Given the description of an element on the screen output the (x, y) to click on. 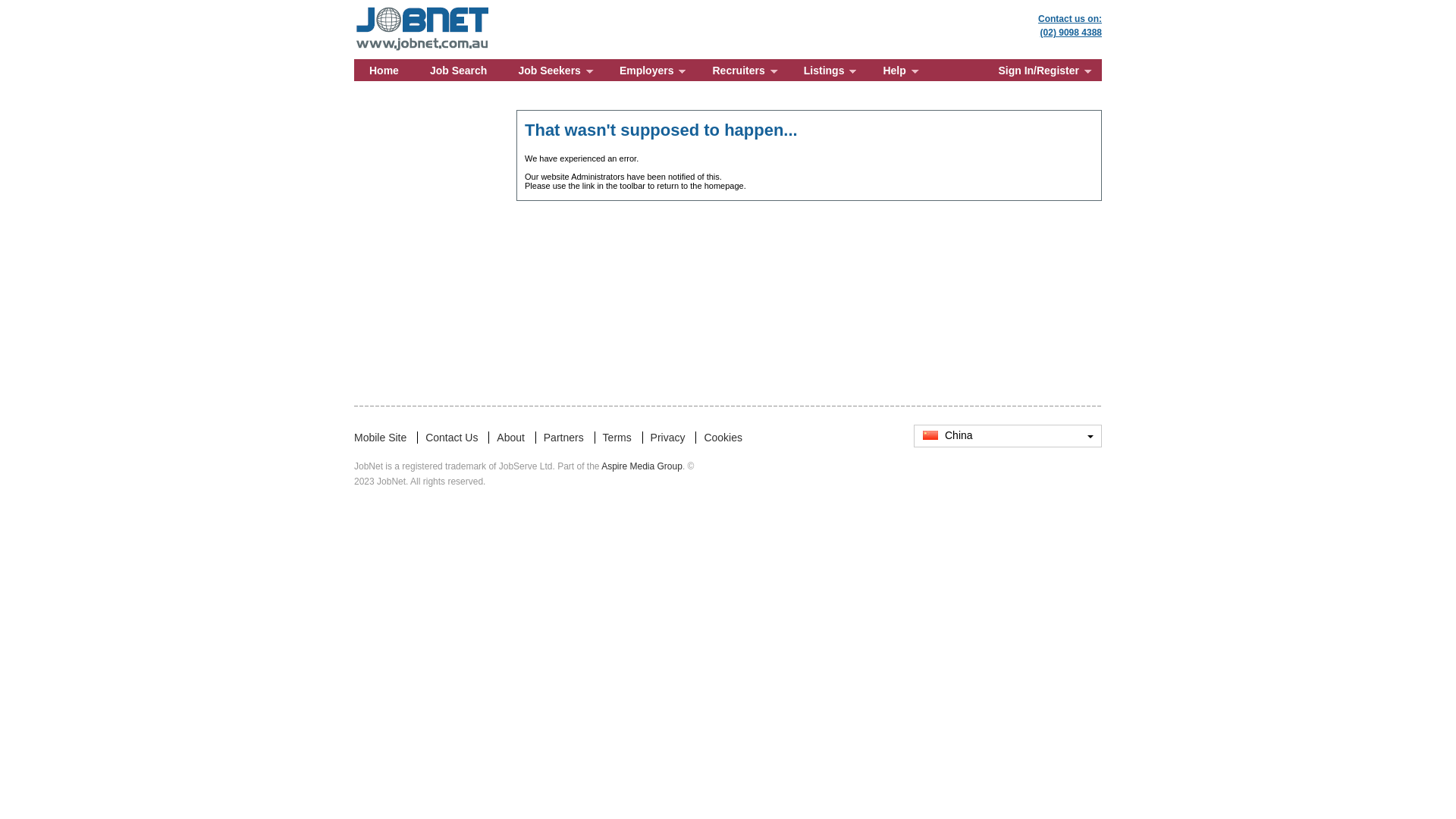
Contact us on:
(02) 9098 4388 Element type: text (1069, 25)
Contact Us Element type: text (451, 437)
Job Search Element type: text (458, 70)
Aspire Media Group Element type: text (641, 466)
Listings Element type: text (827, 70)
Help Element type: text (897, 70)
Employers Element type: text (650, 70)
Home Element type: text (384, 70)
About Element type: text (510, 437)
Sign In/Register Element type: text (1041, 70)
Terms Element type: text (616, 437)
Partners Element type: text (563, 437)
JobNet: Jobs for Technical People Element type: text (422, 8)
Job Seekers Element type: text (552, 70)
Cookies Element type: text (722, 437)
Privacy Element type: text (667, 437)
Mobile Site Element type: text (380, 437)
Recruiters Element type: text (741, 70)
